Given the description of an element on the screen output the (x, y) to click on. 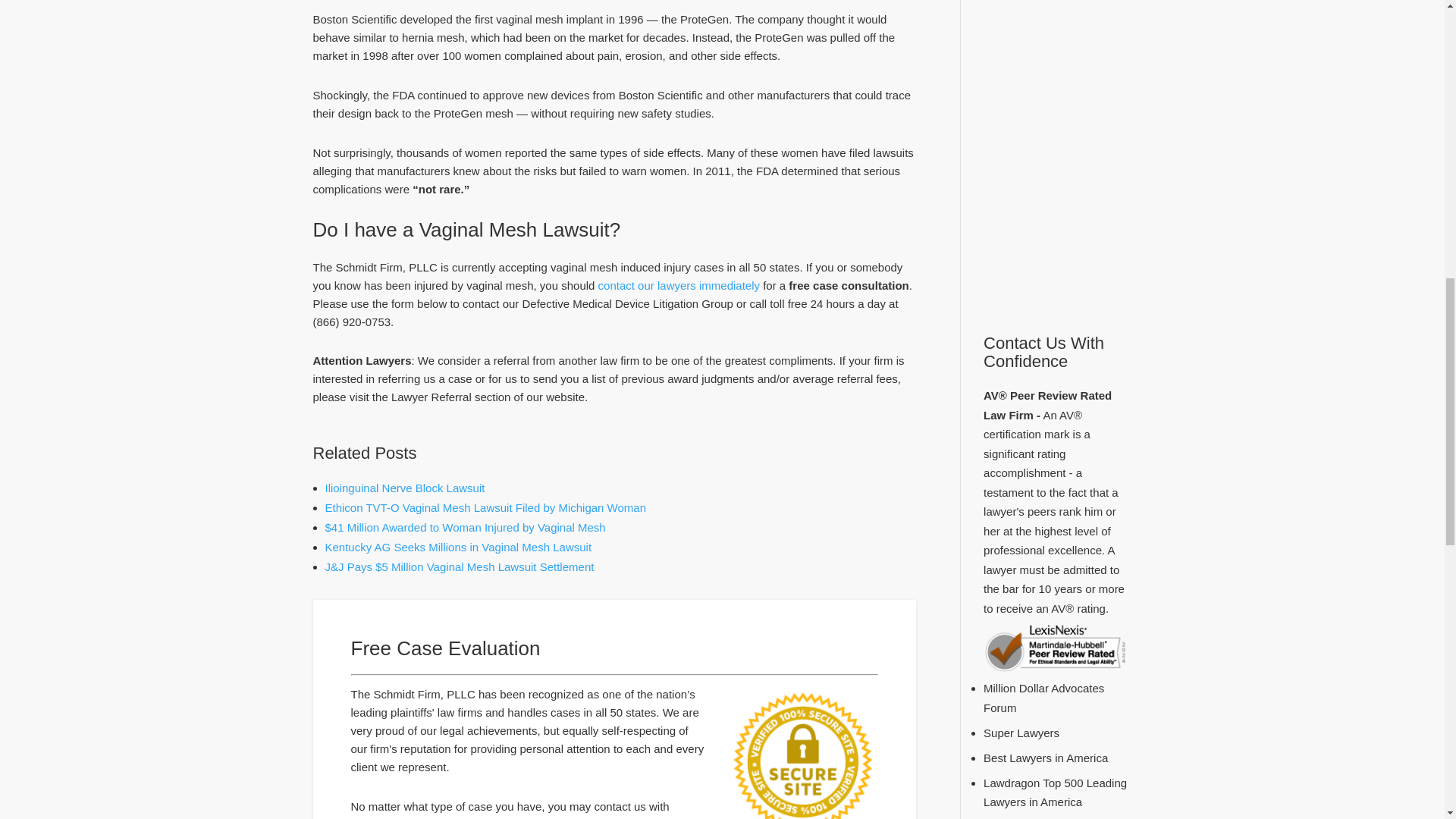
Kentucky AG Seeks Millions in Vaginal Mesh Lawsuit (457, 546)
Ilioinguinal Nerve Block Lawsuit (404, 487)
Ethicon TVT-O Vaginal Mesh Lawsuit Filed by Michigan Woman (485, 507)
contact our lawyers immediately (679, 285)
